Given the description of an element on the screen output the (x, y) to click on. 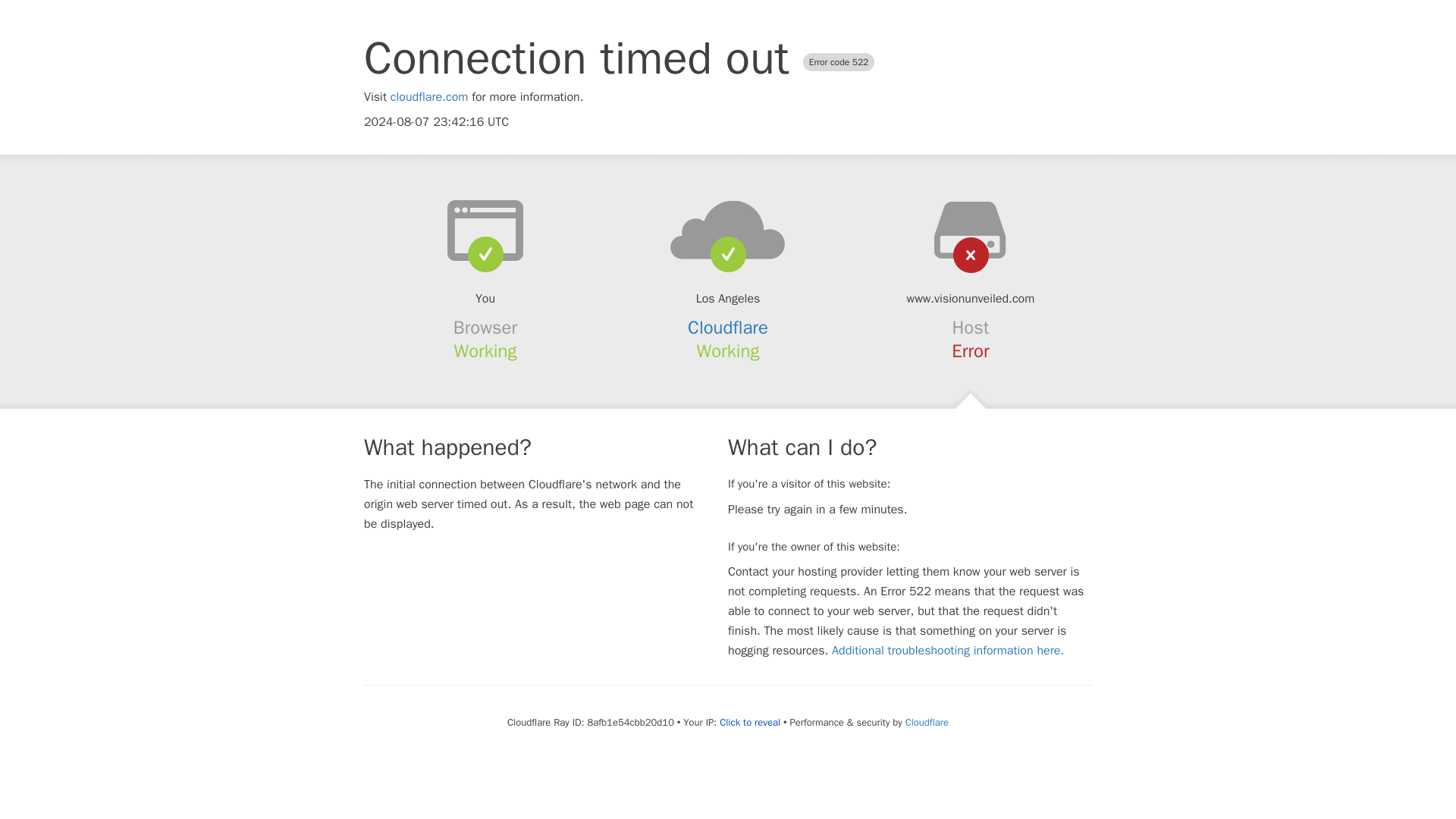
Cloudflare (727, 327)
Click to reveal (749, 722)
Cloudflare (927, 721)
Additional troubleshooting information here. (947, 650)
cloudflare.com (429, 96)
